Given the description of an element on the screen output the (x, y) to click on. 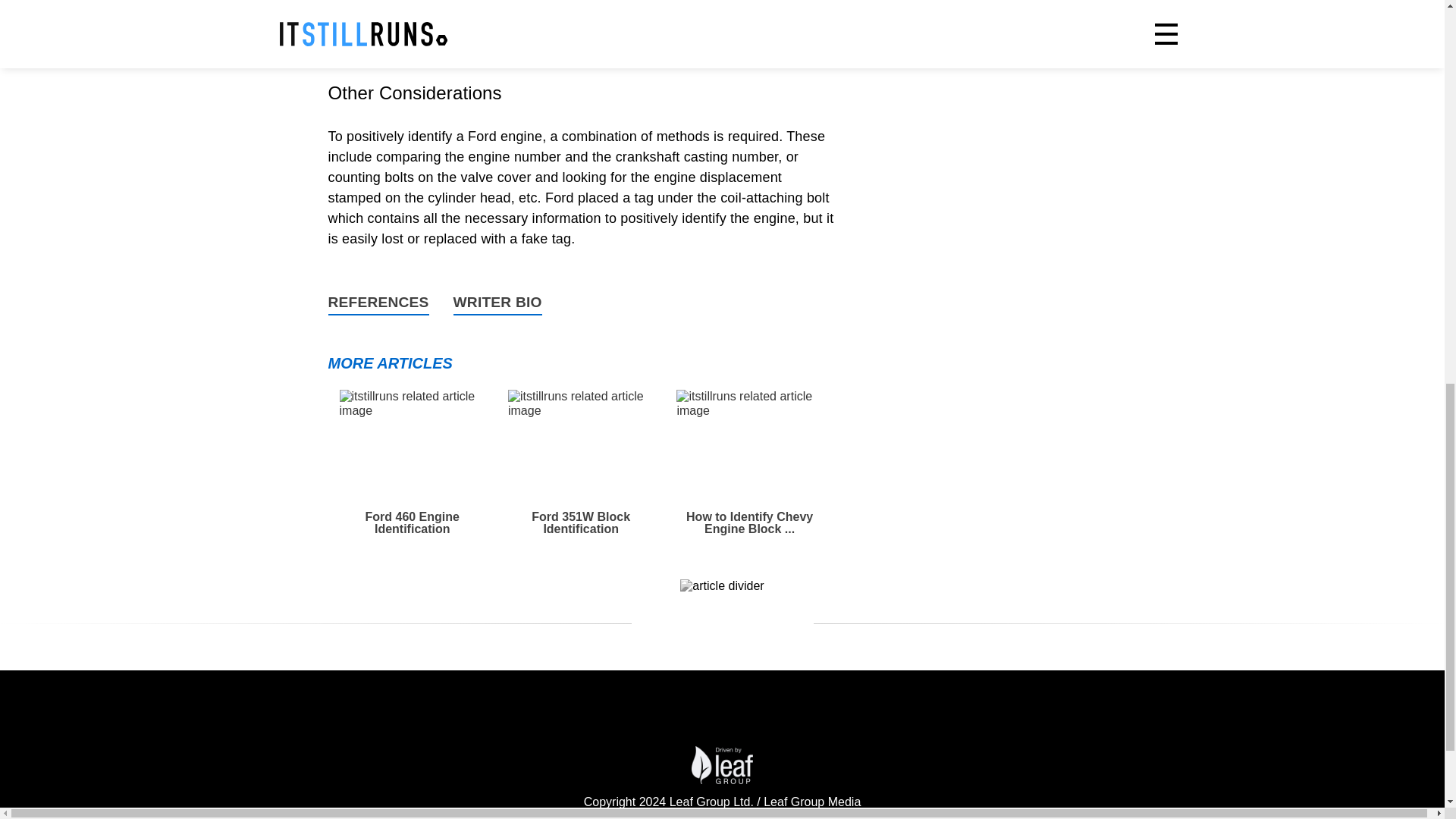
accessibility (431, 817)
Cookie Notice (595, 817)
privacy-policy (840, 817)
About Us (366, 817)
copyright-policy (1050, 817)
Privacy Notice (511, 817)
How to Identify Chevy Engine Block ... (749, 462)
Ford 351W Block Identification (580, 462)
privacy-policy (511, 817)
Manage Preferences (698, 817)
about-us (366, 817)
privacy-policy (595, 817)
Accessibility (431, 817)
terms-of-use (963, 817)
Ford 460 Engine Identification (411, 462)
